Given the description of an element on the screen output the (x, y) to click on. 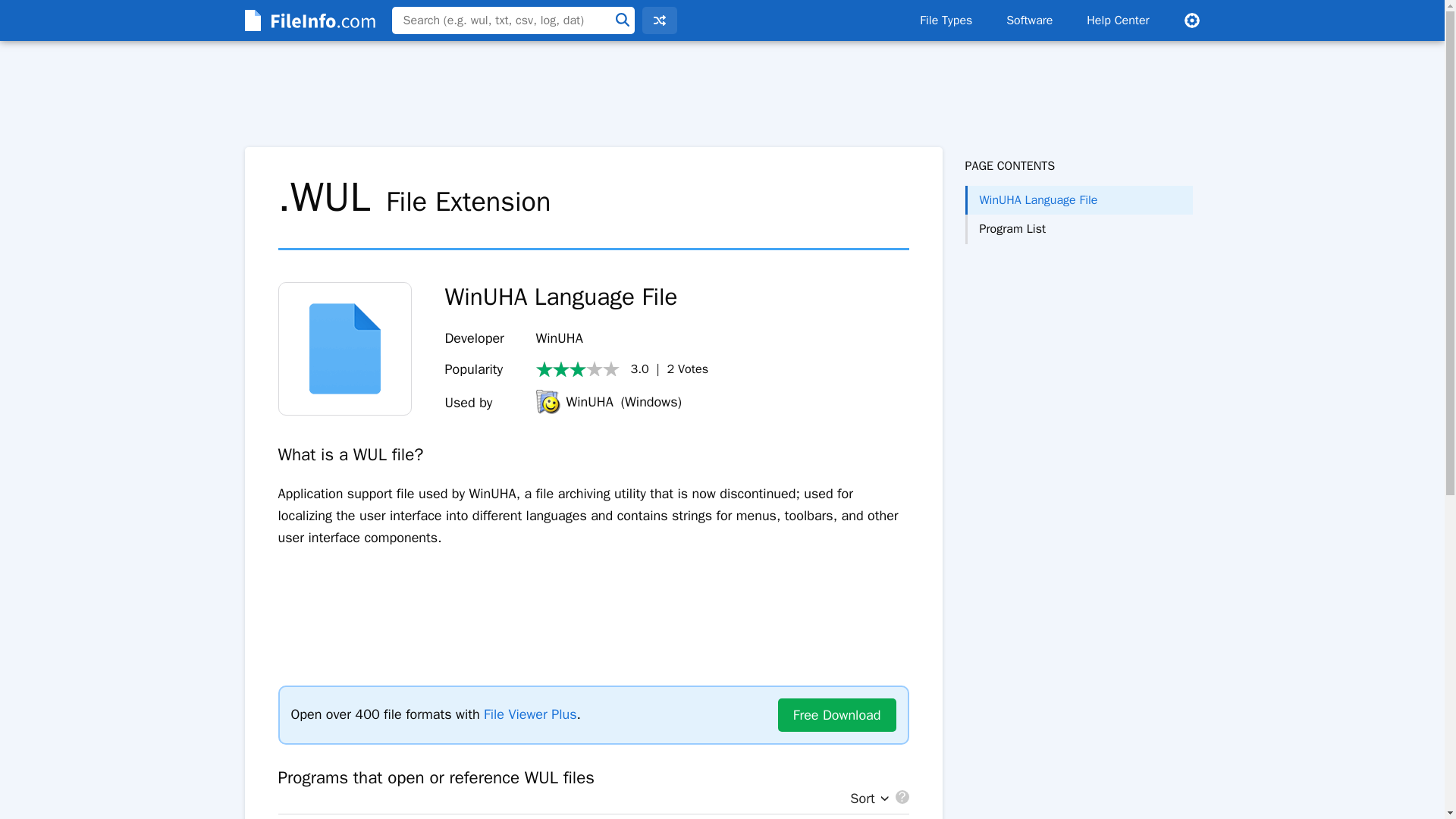
FileInfo (307, 20)
Settings (1190, 20)
Program List (1077, 228)
3rd party ad content (592, 597)
Sort (865, 798)
Search (621, 20)
3rd party ad content (721, 94)
WinUHA Language File (1077, 199)
Software (1029, 20)
File Types (945, 20)
3rd party ad content (1077, 304)
Document Icon (344, 348)
Help Center (1117, 20)
